Given the description of an element on the screen output the (x, y) to click on. 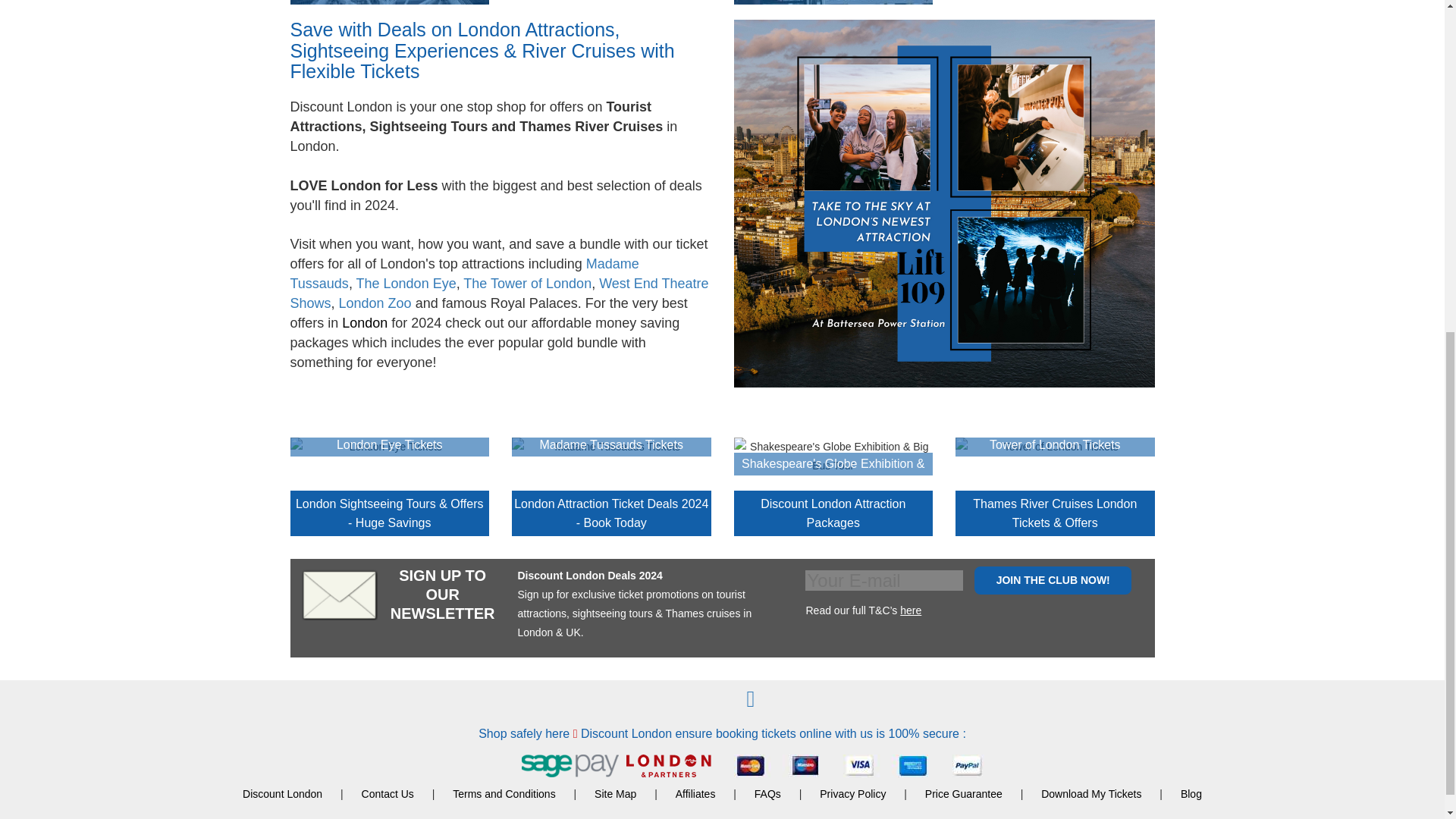
Tower of London Tickets (527, 283)
Cheap Madame Tussauds Tickets (464, 273)
London Zoo Tickets (375, 303)
London Theatre Tickets (498, 293)
London Eye Tickets (406, 283)
